Given the description of an element on the screen output the (x, y) to click on. 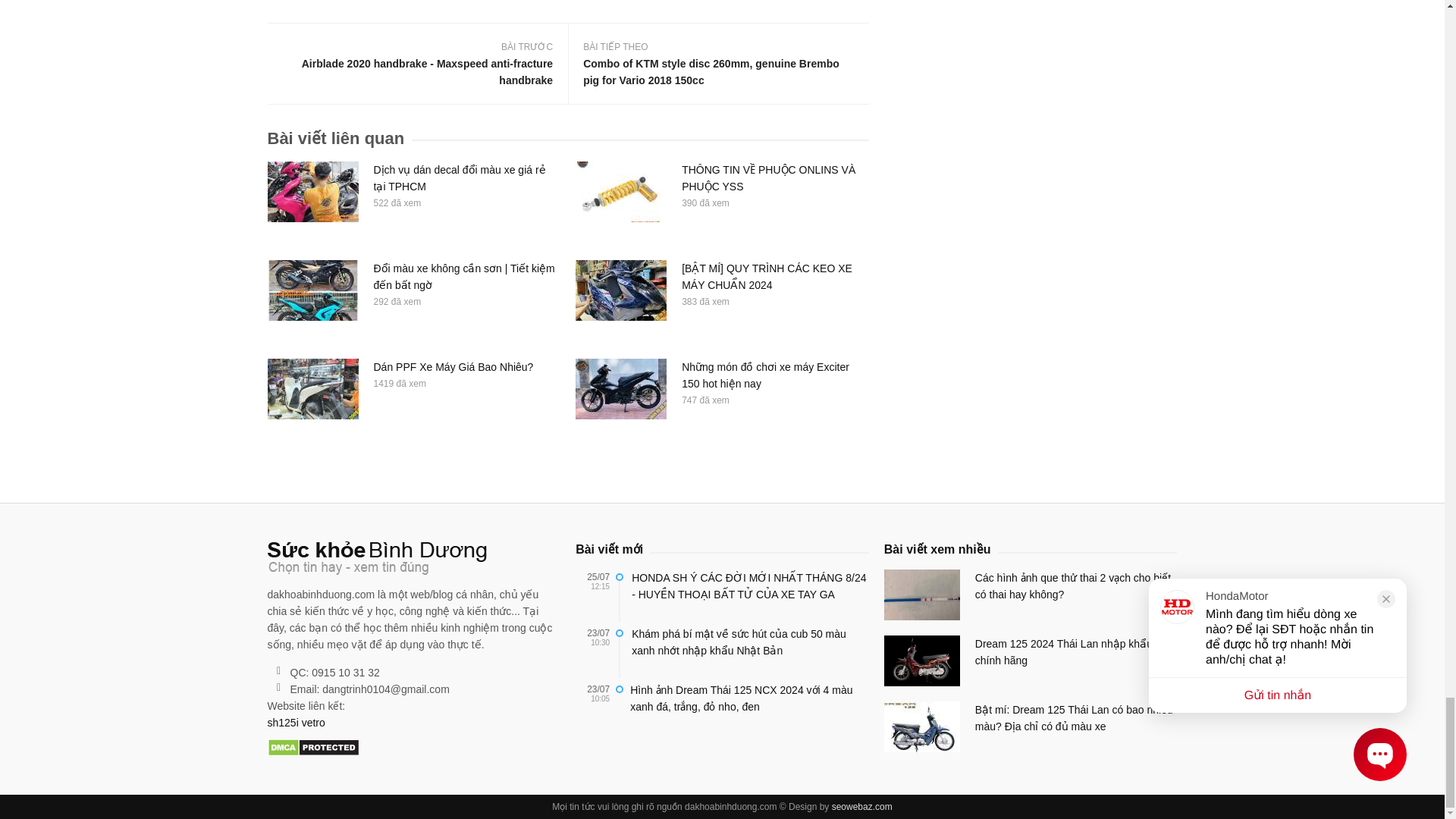
DMCA.com Protection Status (312, 748)
